Given the description of an element on the screen output the (x, y) to click on. 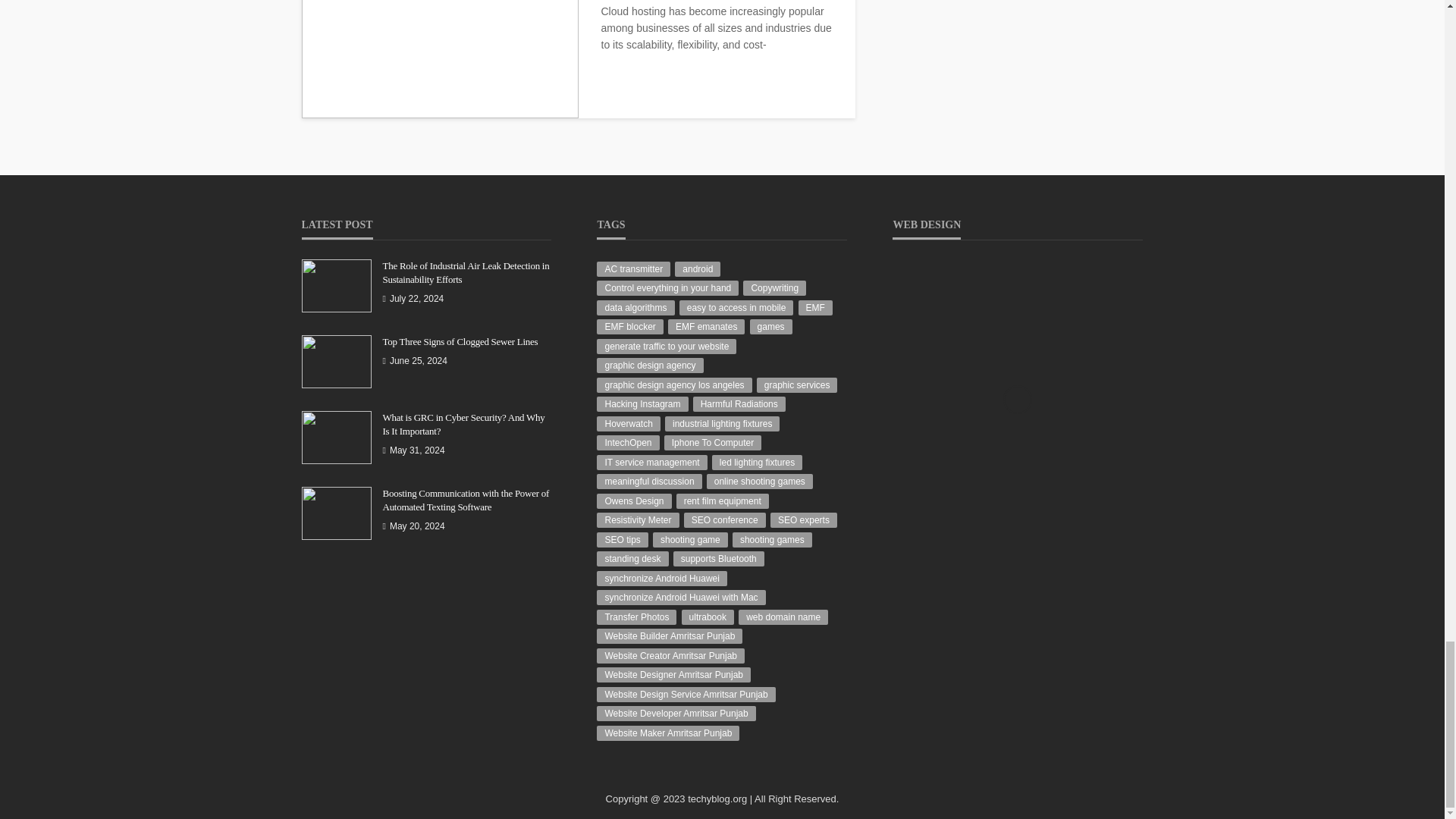
What types of businesses benefit most from cloud hosting? (439, 58)
